Given the description of an element on the screen output the (x, y) to click on. 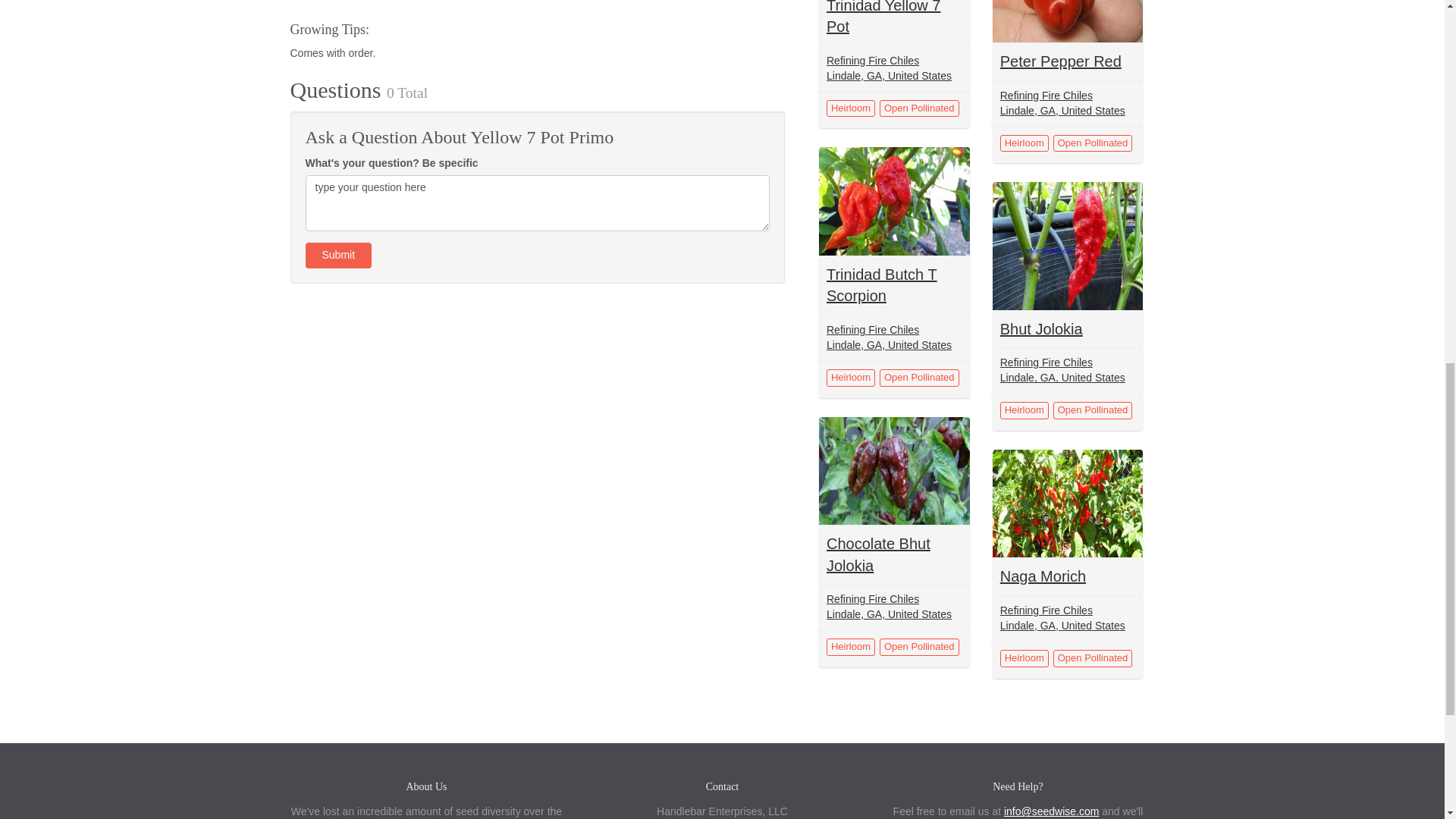
Submit (337, 255)
